Given the description of an element on the screen output the (x, y) to click on. 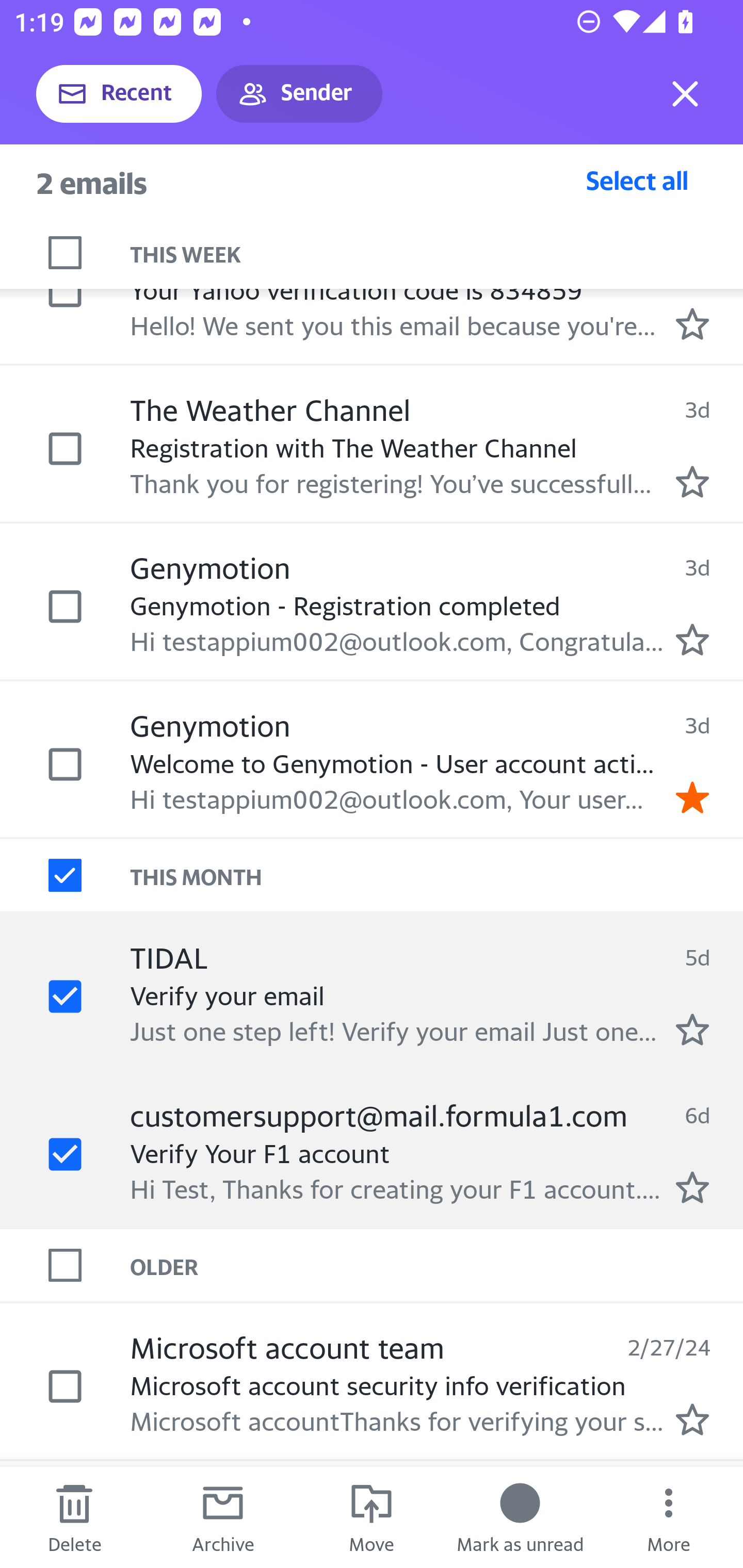
Sender (299, 93)
Exit selection mode (684, 93)
Select all (637, 180)
Mark as starred. (692, 323)
Mark as starred. (692, 482)
Mark as starred. (692, 638)
Remove star. (692, 797)
THIS MONTH (436, 875)
Mark as starred. (692, 1029)
Mark as starred. (692, 1187)
OLDER (436, 1264)
Mark as starred. (692, 1419)
Delete (74, 1517)
Archive (222, 1517)
Move (371, 1517)
Mark as unread (519, 1517)
More (668, 1517)
